Given the description of an element on the screen output the (x, y) to click on. 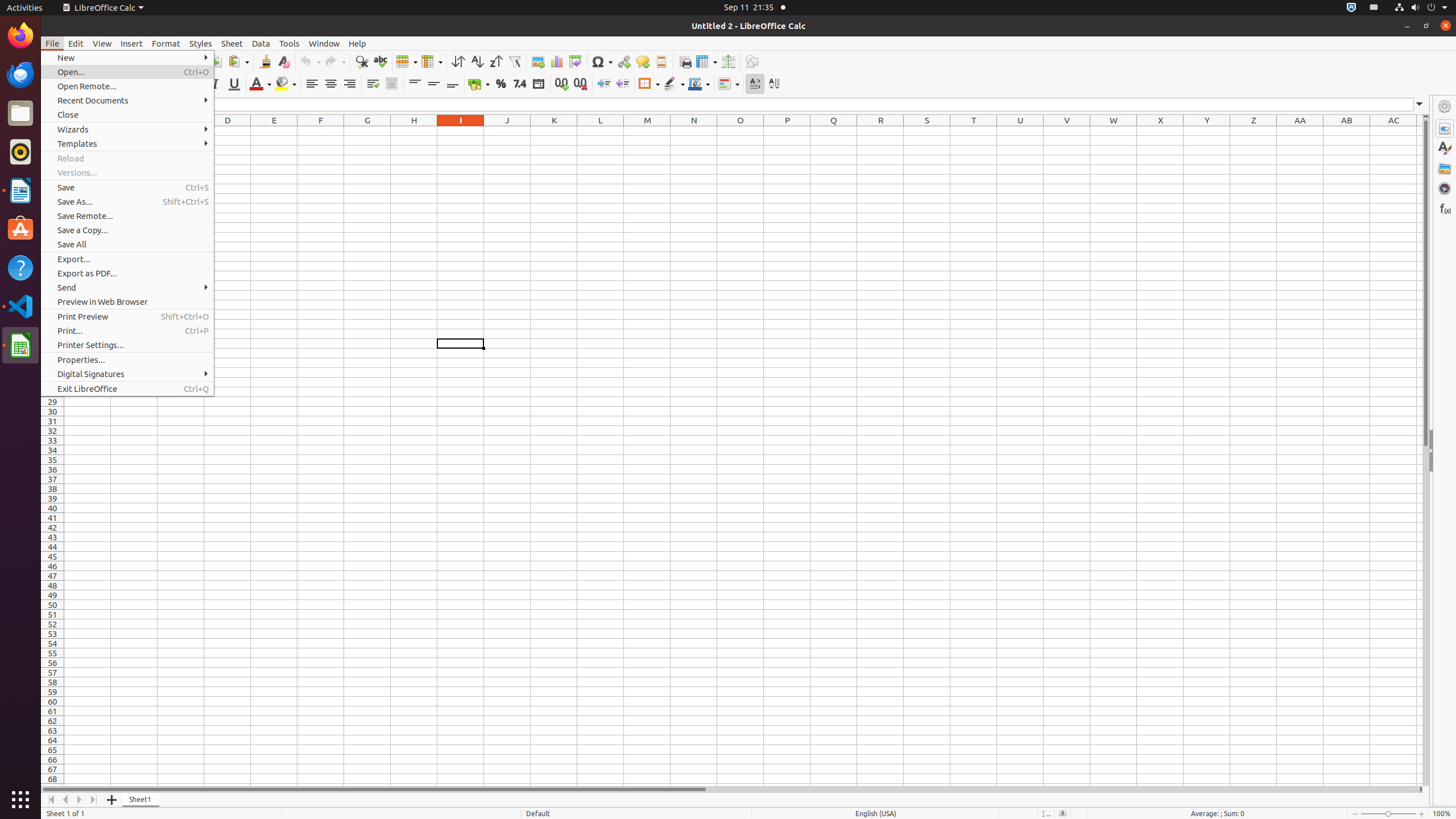
K1 Element type: table-cell (553, 130)
Styles Element type: menu (200, 43)
Increase Element type: push-button (603, 83)
U1 Element type: table-cell (1020, 130)
